Given the description of an element on the screen output the (x, y) to click on. 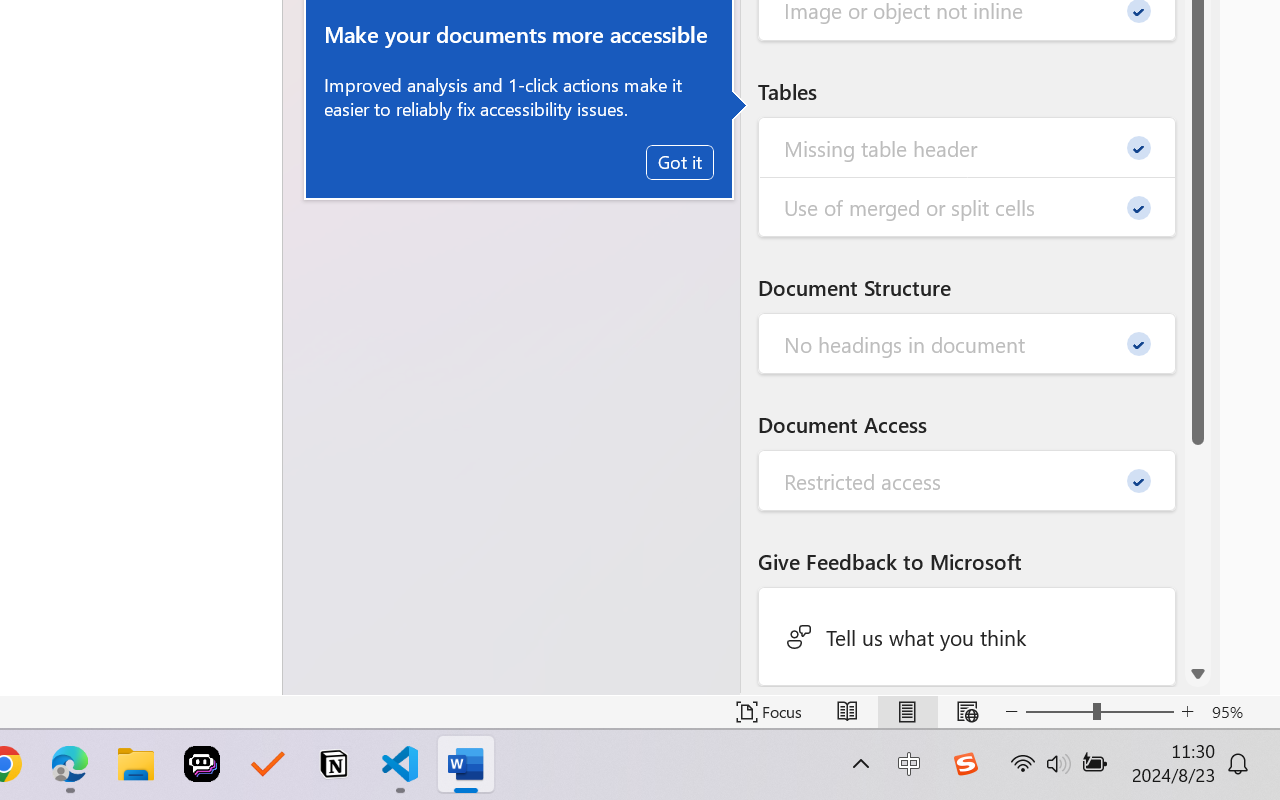
Page down (1197, 552)
Use of merged or split cells - 0 (967, 206)
Tell us what you think - 1 (967, 636)
Restricted access - 0 (967, 480)
Got it (680, 162)
Line down (1197, 673)
Missing table header - 0 (967, 147)
No headings in document - 0 (967, 343)
